Given the description of an element on the screen output the (x, y) to click on. 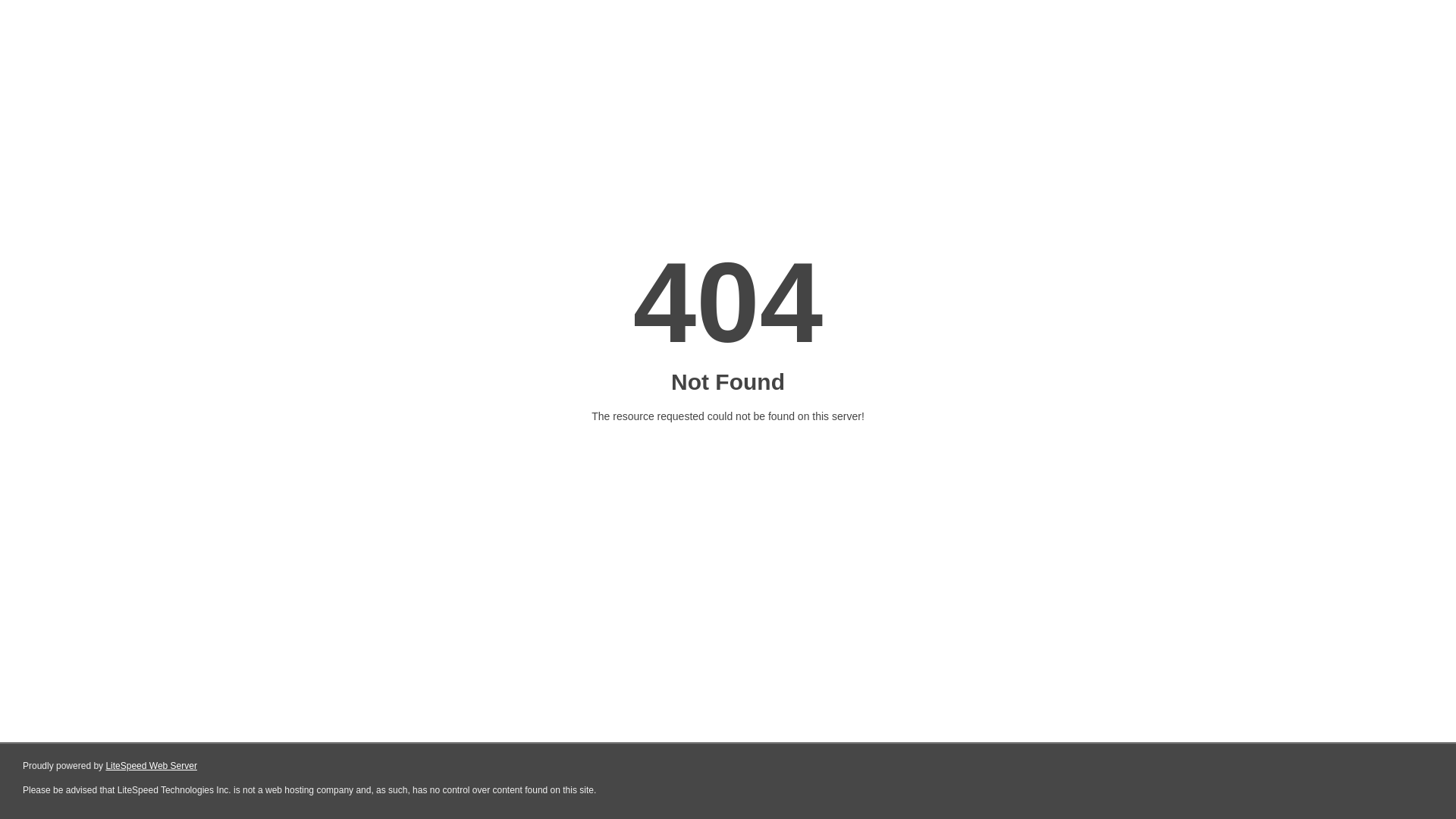
LiteSpeed Web Server (150, 765)
